Given the description of an element on the screen output the (x, y) to click on. 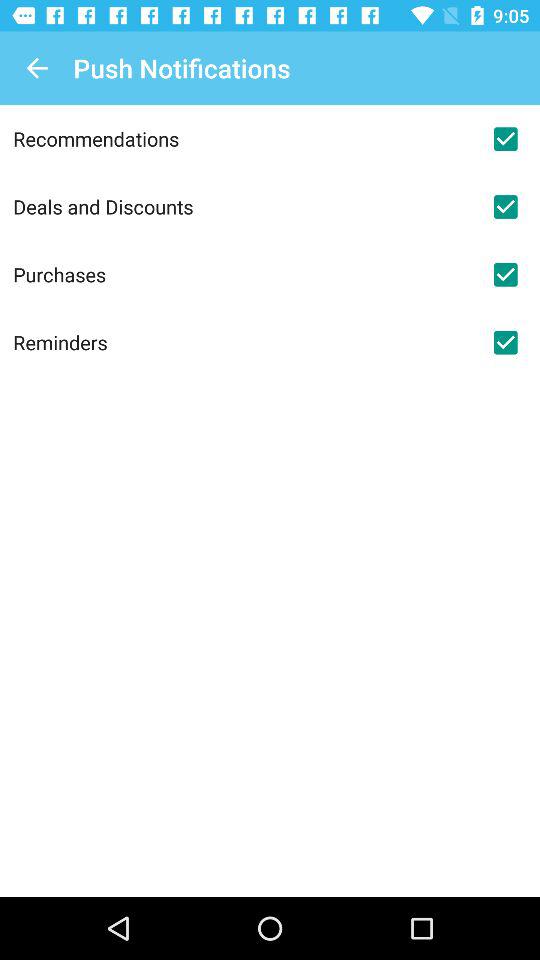
turn on icon above the reminders (242, 274)
